Given the description of an element on the screen output the (x, y) to click on. 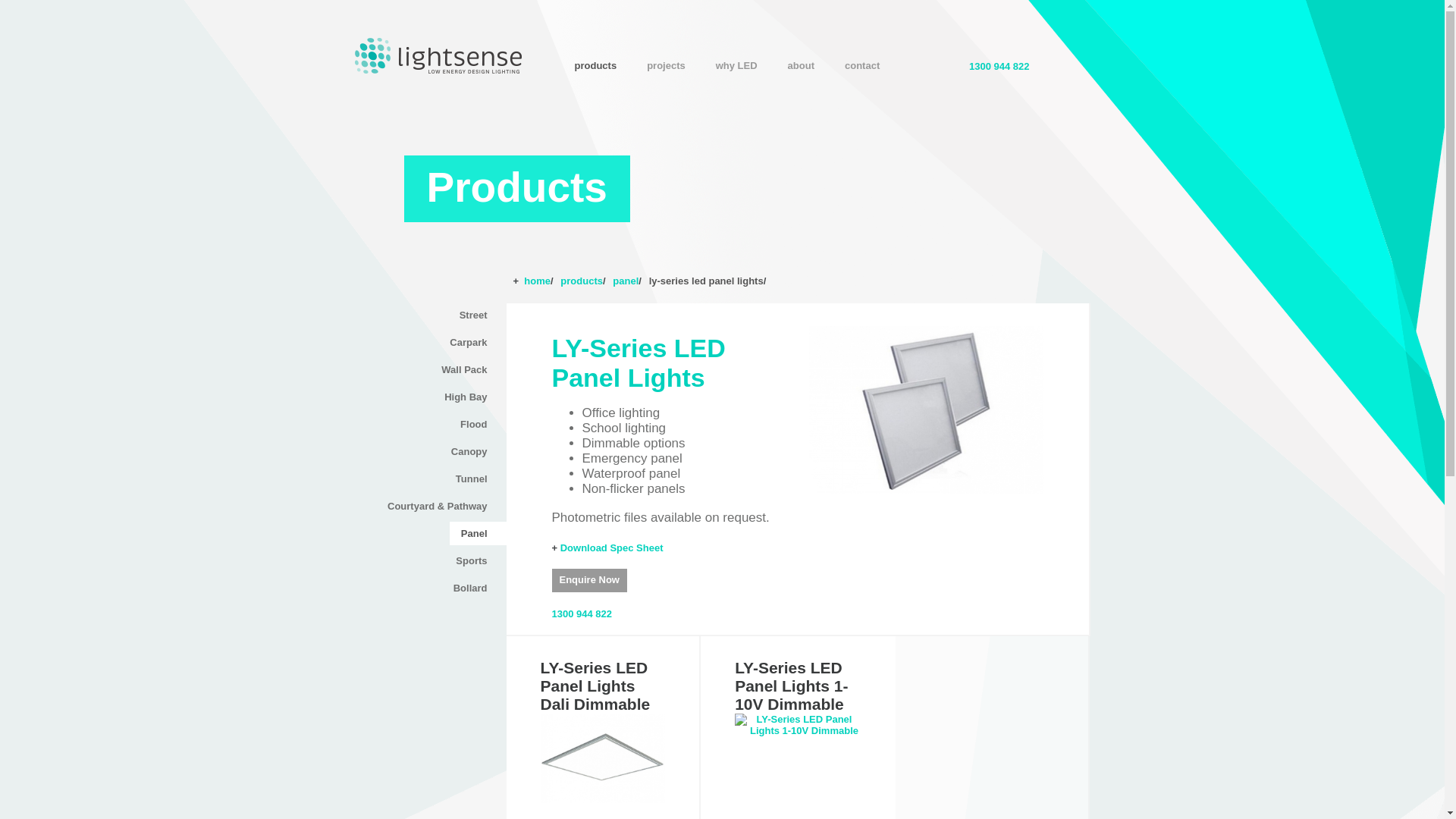
Carpark Element type: text (471, 342)
Sports Element type: text (474, 560)
Wall Pack Element type: text (467, 369)
1300 944 822 Element type: text (582, 613)
Tunnel Element type: text (475, 478)
High Bay Element type: text (469, 396)
Street Element type: text (477, 314)
LY-Series LED Panel Lights Dali Dimmable Element type: hover (602, 758)
LY-Series LED Panel Lights Element type: hover (925, 410)
1300 944 822 Element type: text (999, 66)
about Element type: text (800, 65)
panel/ Element type: text (626, 280)
+ Download Spec Sheet Element type: text (607, 547)
products Element type: text (595, 65)
contact Element type: text (861, 65)
+  home/ Element type: text (532, 280)
Panel Element type: text (477, 533)
Canopy Element type: text (472, 451)
Bollard Element type: text (474, 587)
projects Element type: text (665, 65)
why LED Element type: text (736, 65)
Enquire Now Element type: text (589, 580)
products/ Element type: text (582, 280)
ly-series led panel lights/ Element type: text (707, 280)
Courtyard & Pathway Element type: text (440, 505)
Flood Element type: text (476, 424)
LY-Series LED Panel Lights 1-10V Dimmable Element type: hover (797, 724)
